Given the description of an element on the screen output the (x, y) to click on. 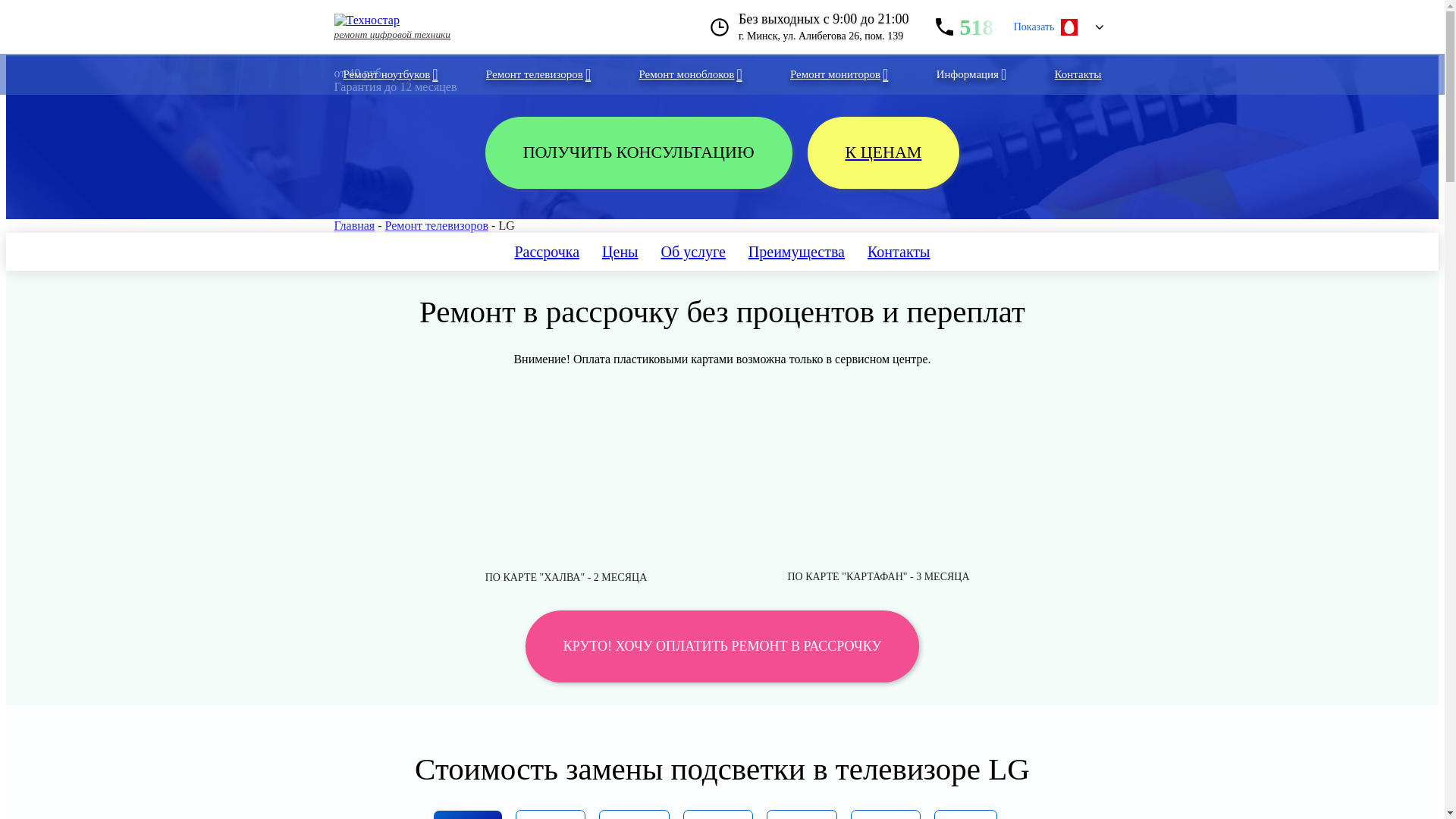
+375 (29) 518 62 62 Element type: hover (1068, 26)
